Given the description of an element on the screen output the (x, y) to click on. 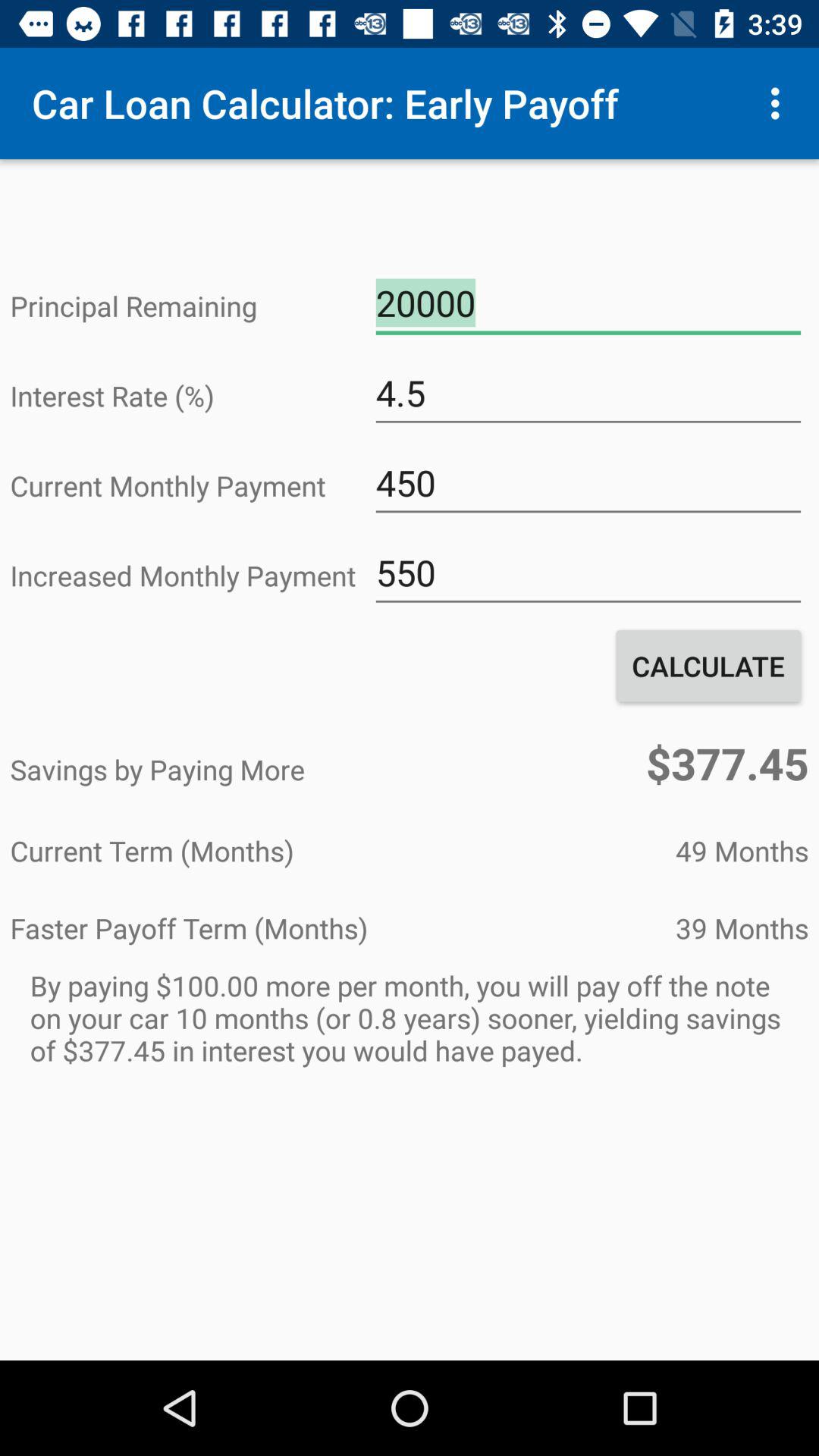
press the icon below the 450 (587, 573)
